Given the description of an element on the screen output the (x, y) to click on. 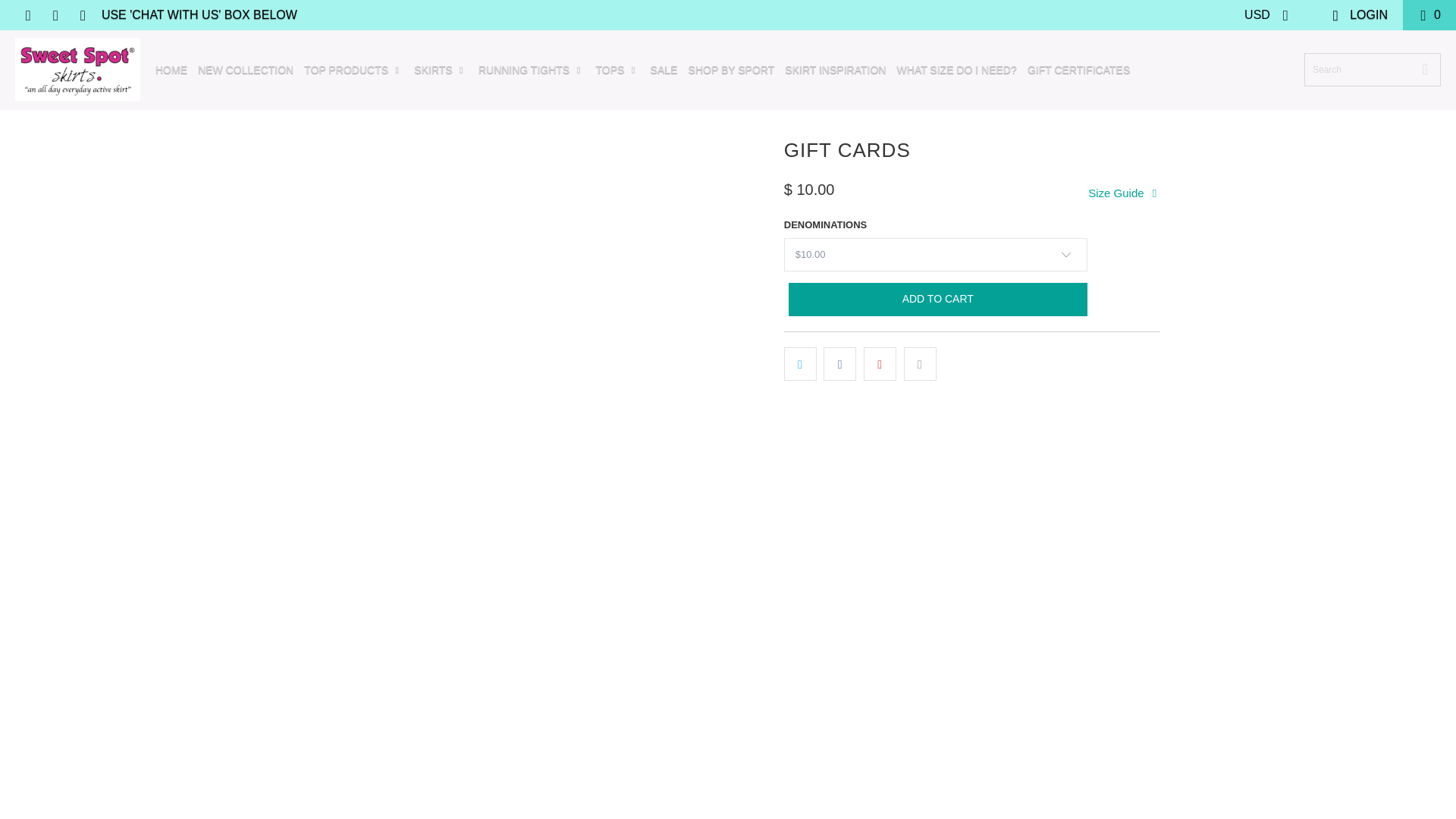
Share this on Facebook (840, 363)
Share this on Pinterest (879, 363)
Sweet Spot Skirts (76, 69)
Sweet Spot Skirts on Facebook (26, 14)
Sweet Spot Skirts on YouTube (54, 14)
Email this to a friend (920, 363)
Share this on Twitter (800, 363)
Sweet Spot Skirts on Instagram (82, 14)
My Account  (1358, 15)
